Given the description of an element on the screen output the (x, y) to click on. 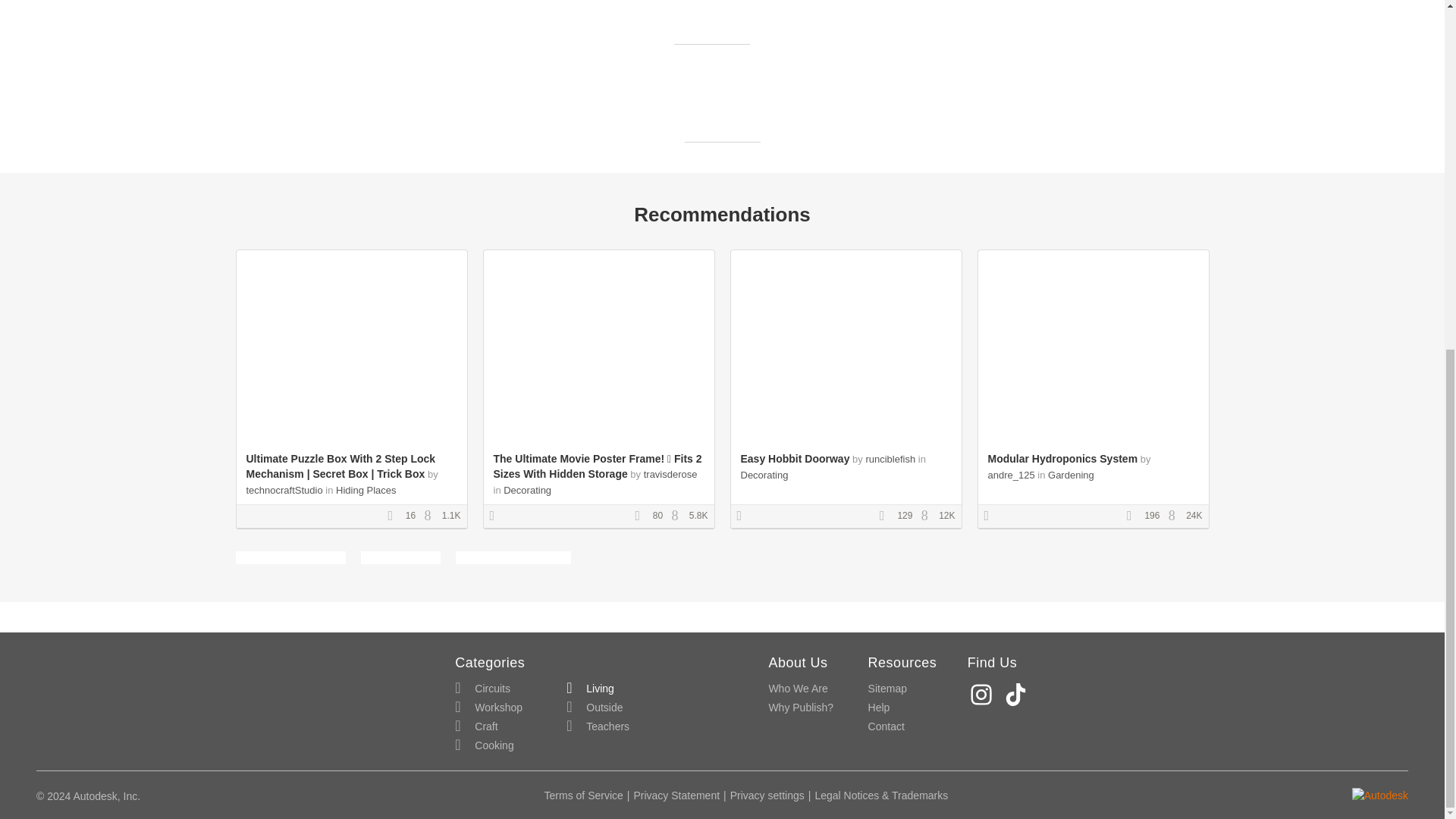
Views Count (431, 516)
Modular Hydroponics System (1062, 458)
Contest Winner (991, 516)
Circuits (482, 688)
Favorites Count (395, 516)
Decorating (527, 490)
Favorites Count (887, 516)
Favorites Count (1133, 516)
technocraftStudio (283, 490)
Gardening (1071, 474)
Contest Winner (744, 516)
Decorating (763, 474)
Contest Winner (497, 516)
runciblefish (889, 459)
Views Count (678, 516)
